Given the description of an element on the screen output the (x, y) to click on. 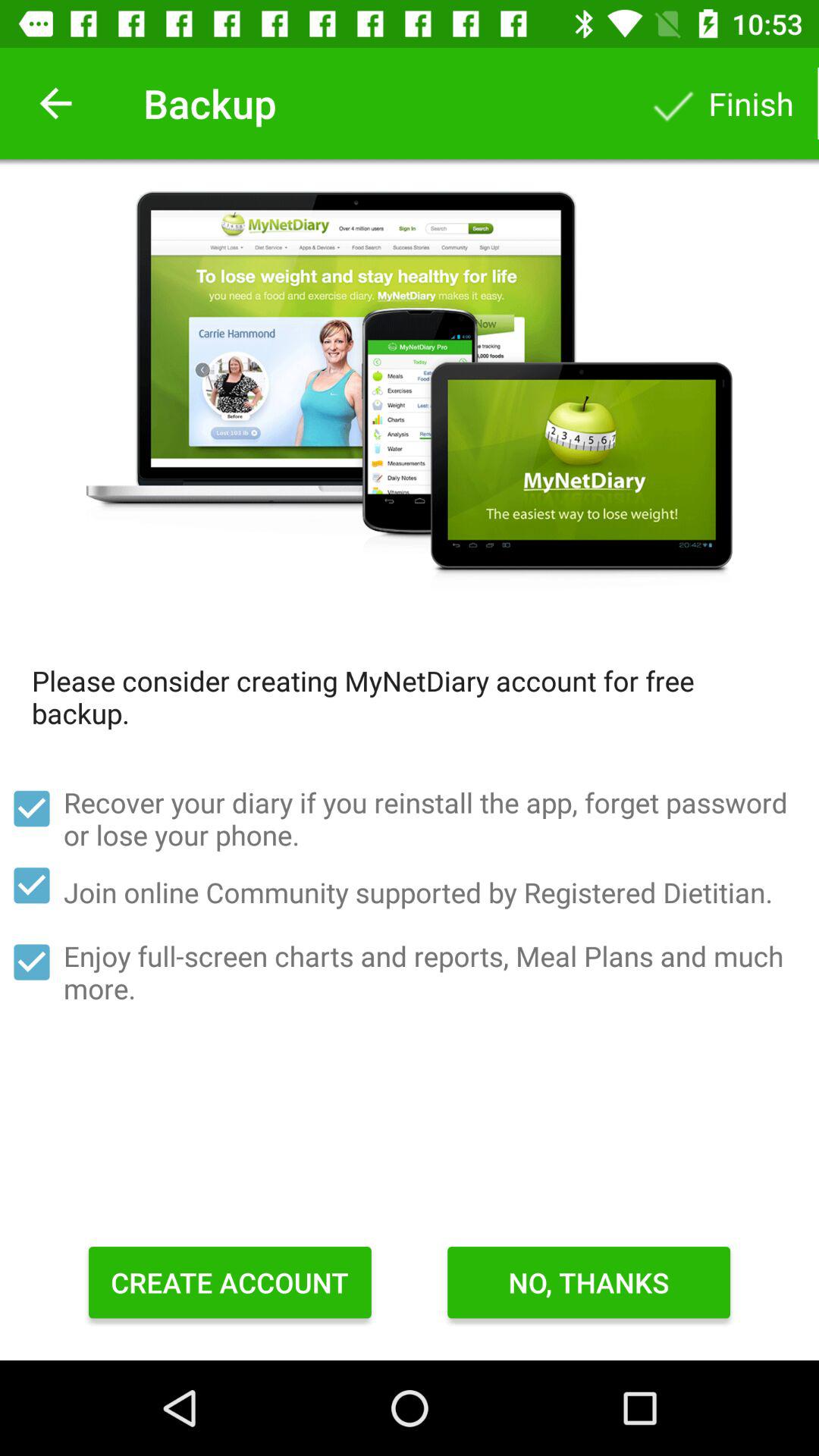
flip until the no, thanks (588, 1282)
